Given the description of an element on the screen output the (x, y) to click on. 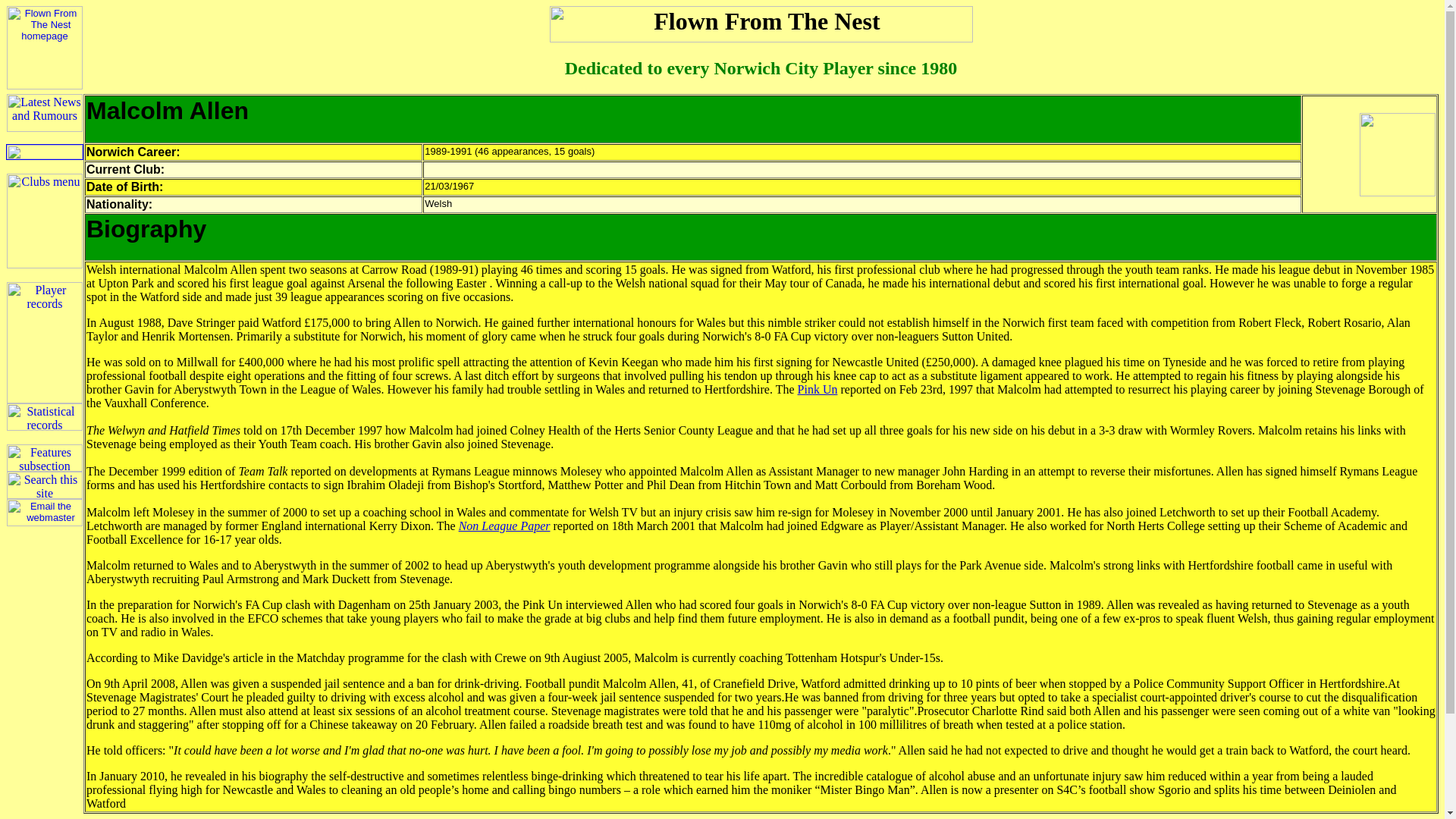
Pink Un (817, 389)
Non League Paper (504, 525)
